Given the description of an element on the screen output the (x, y) to click on. 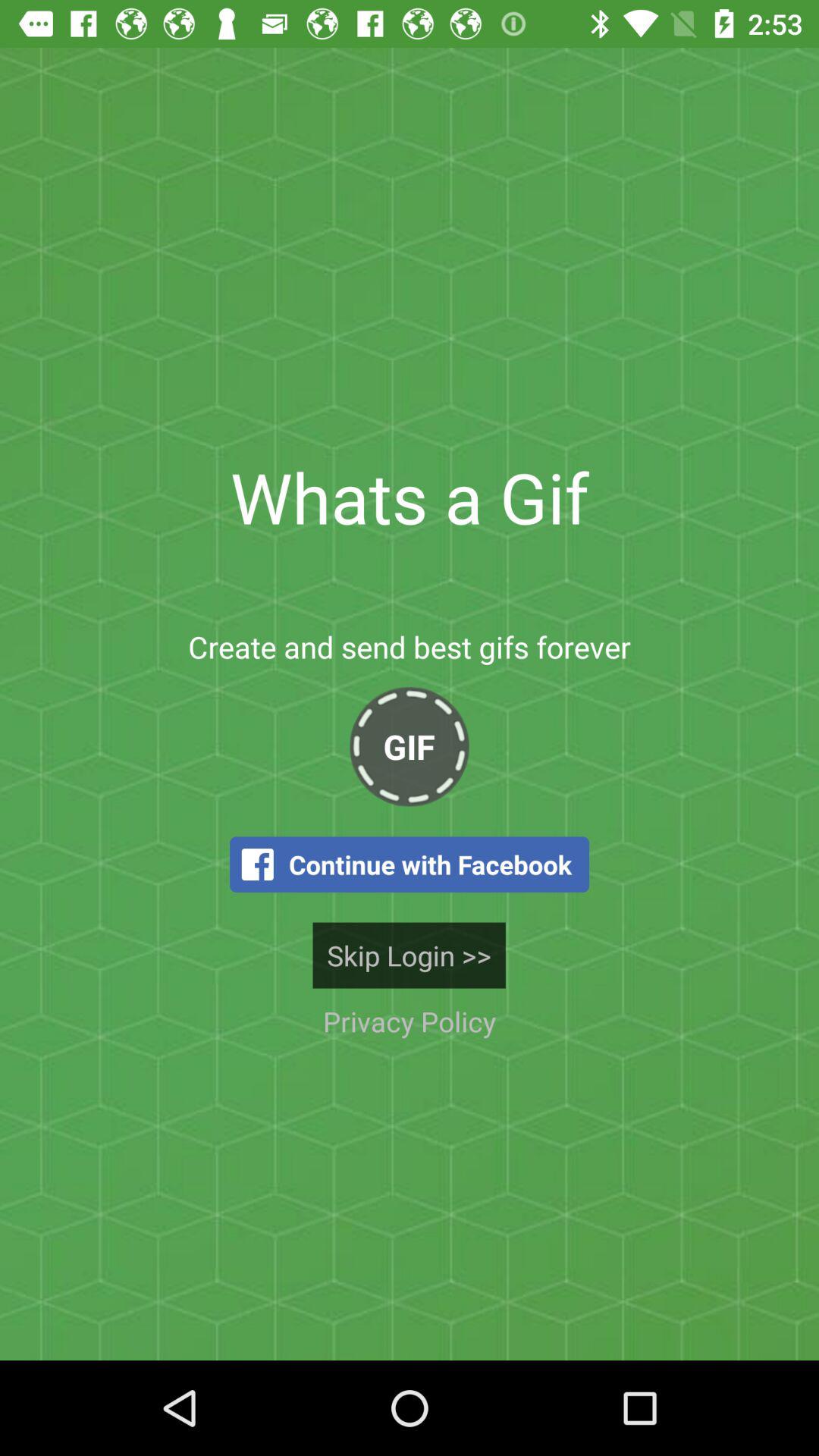
turn on skip login >> icon (408, 955)
